Given the description of an element on the screen output the (x, y) to click on. 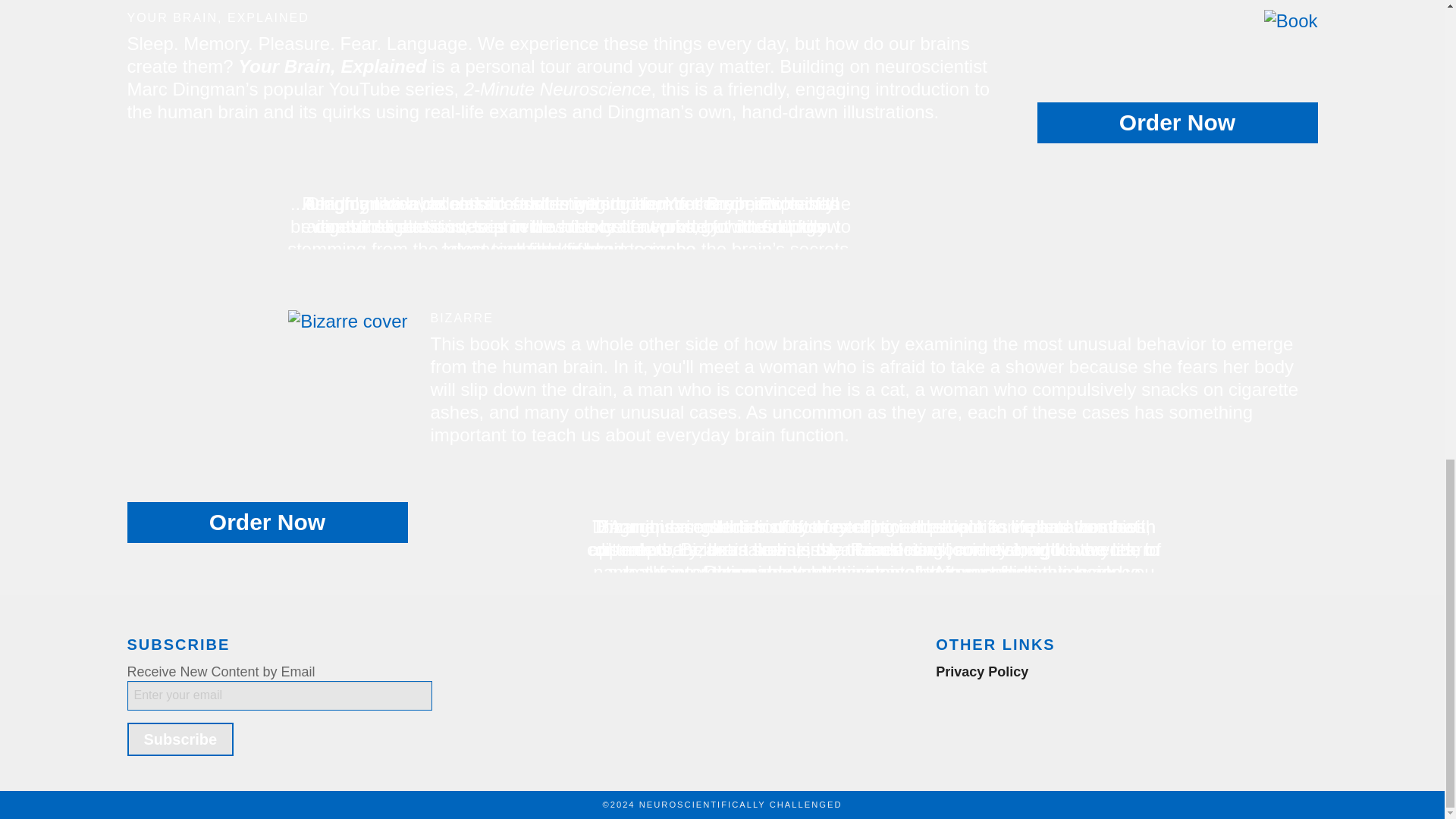
Next Slide (1305, 515)
Subscribe (181, 738)
Subscribe (181, 738)
Next Slide (1002, 192)
Previous Slide (442, 515)
Previous Slide (139, 192)
Privacy Policy (981, 671)
Order Now (267, 522)
Order Now (1176, 122)
